Given the description of an element on the screen output the (x, y) to click on. 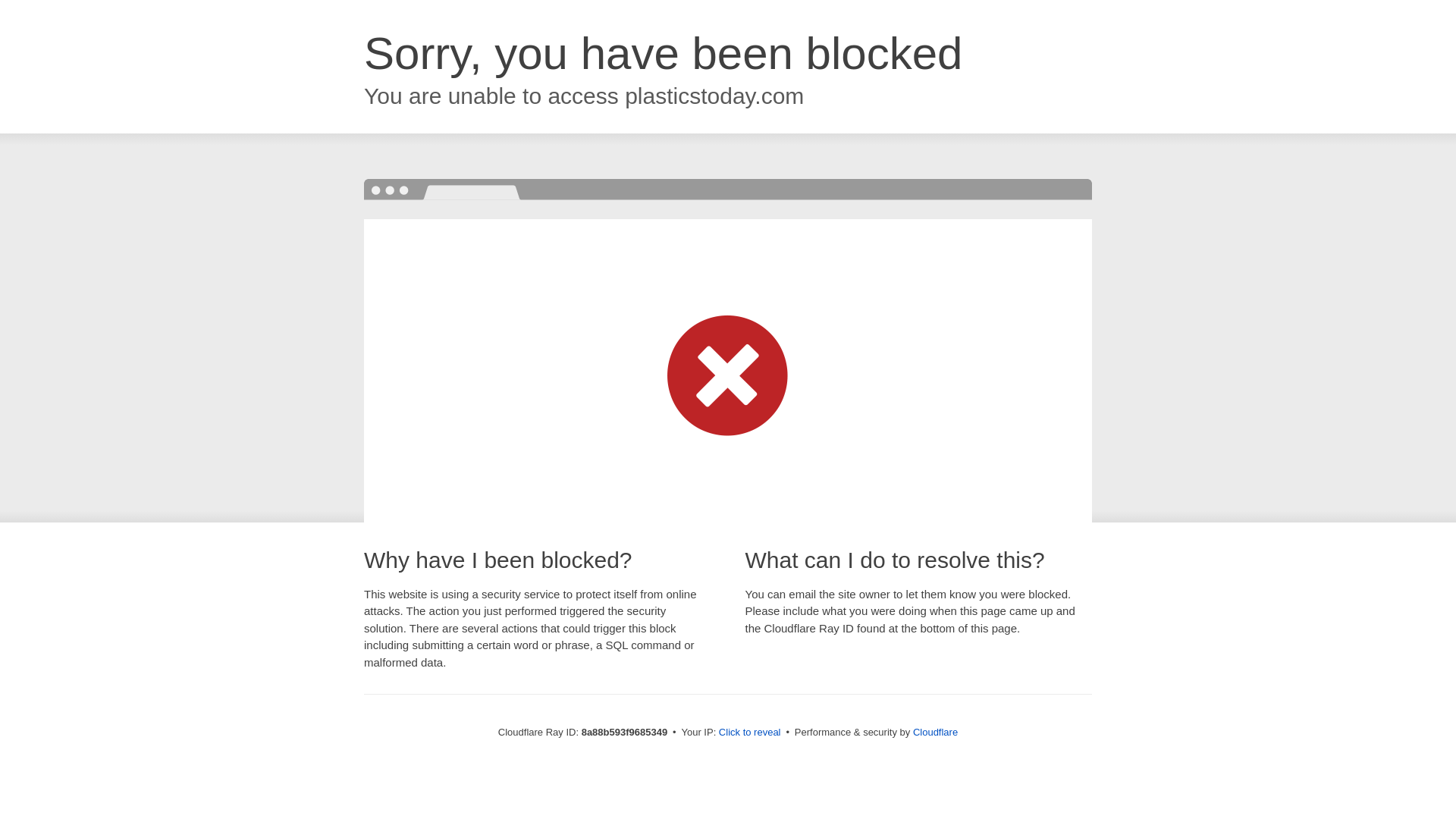
Cloudflare (935, 731)
Click to reveal (749, 732)
